Given the description of an element on the screen output the (x, y) to click on. 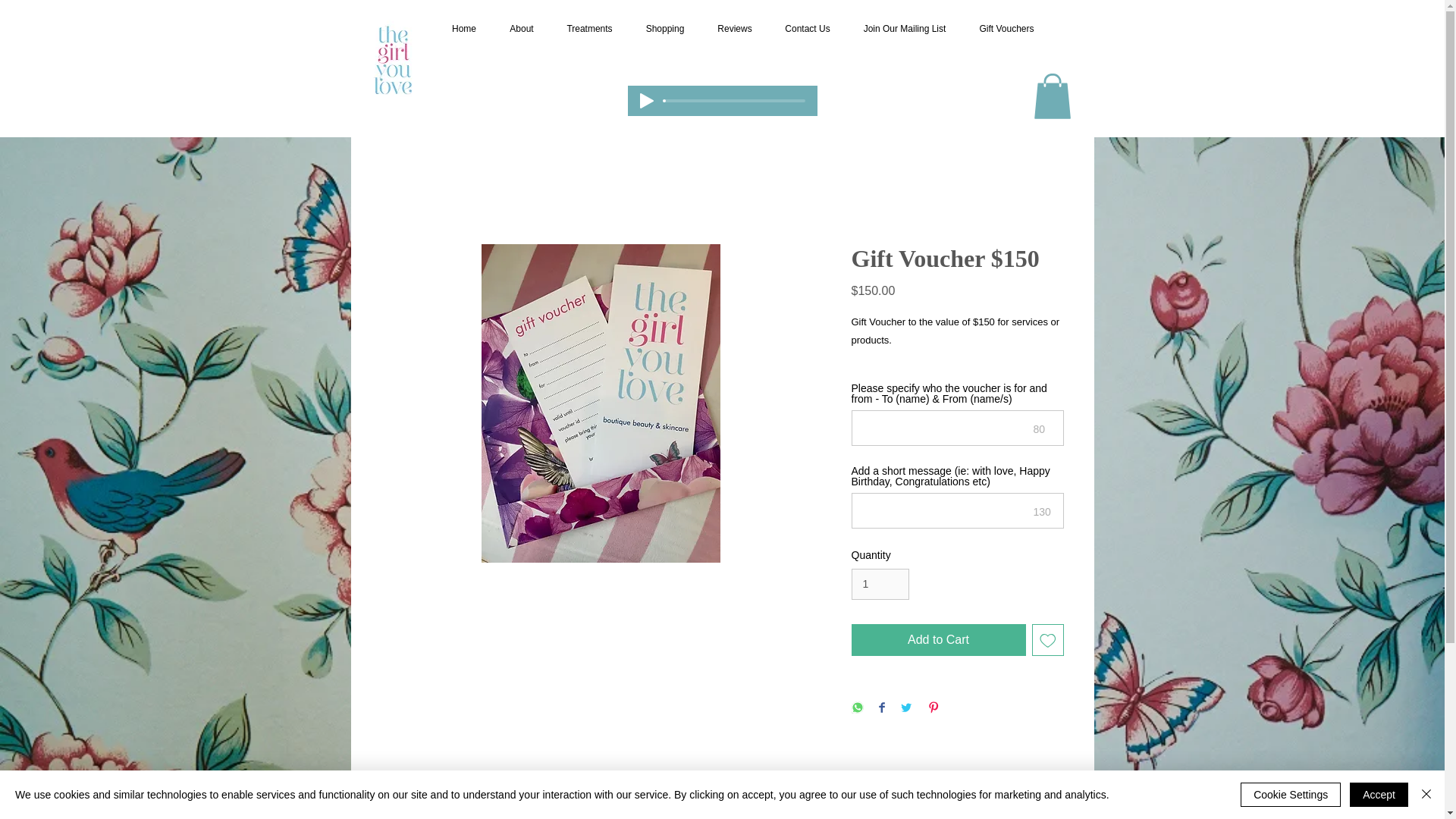
About (521, 28)
Gift Vouchers (1006, 28)
0 (734, 100)
Home (464, 28)
Join Our Mailing List (903, 28)
Contact Us (807, 28)
Treatments (589, 28)
Shopping (664, 28)
1 (879, 583)
Reviews (734, 28)
